Given the description of an element on the screen output the (x, y) to click on. 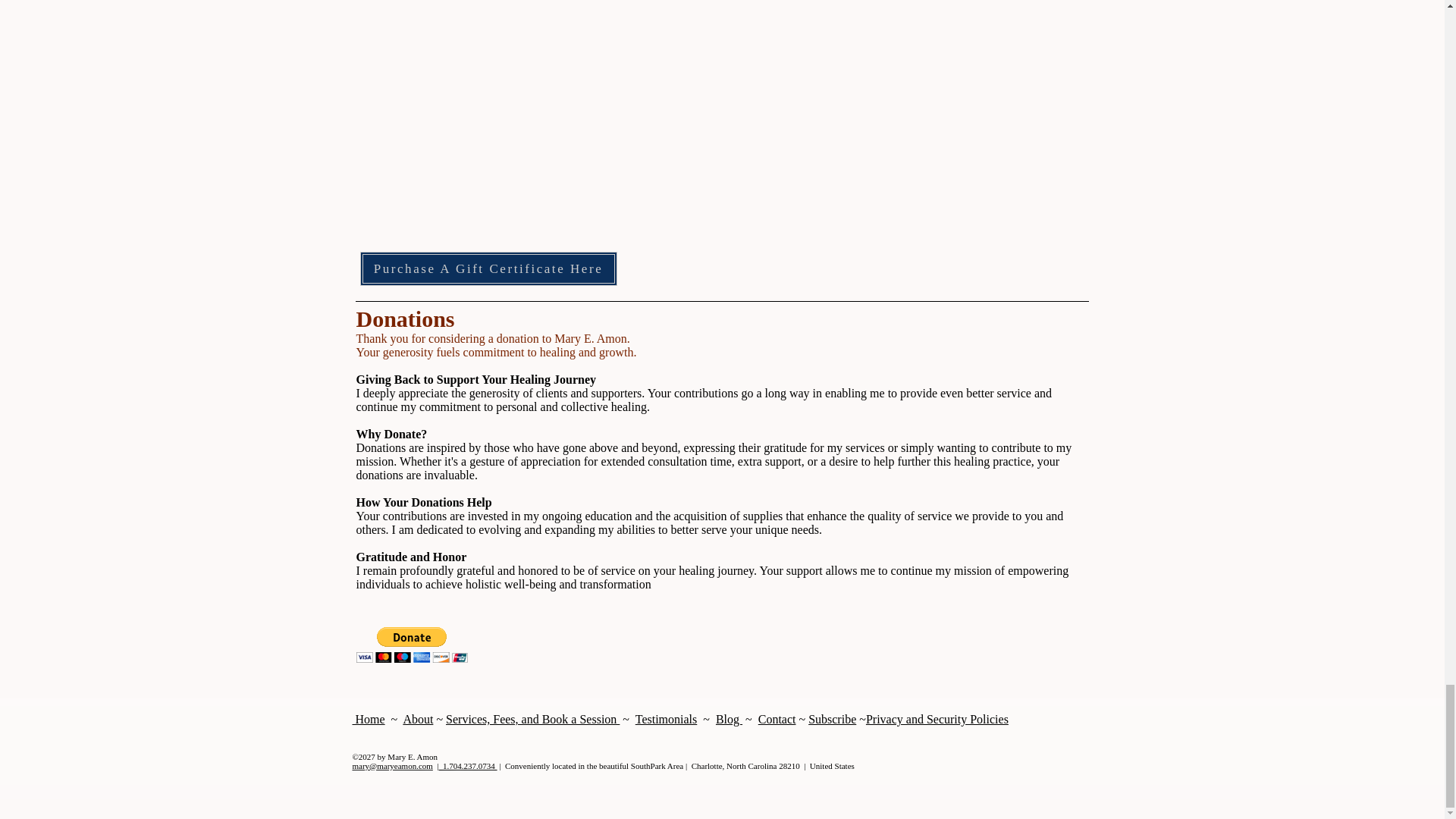
Services, Fees, and Book a Session  (532, 718)
About (417, 718)
 Home (368, 718)
Purchase A Gift Certificate Here (487, 268)
Subscribe (832, 718)
Contact (777, 718)
Blog  (729, 718)
Testimonials (665, 718)
